Given the description of an element on the screen output the (x, y) to click on. 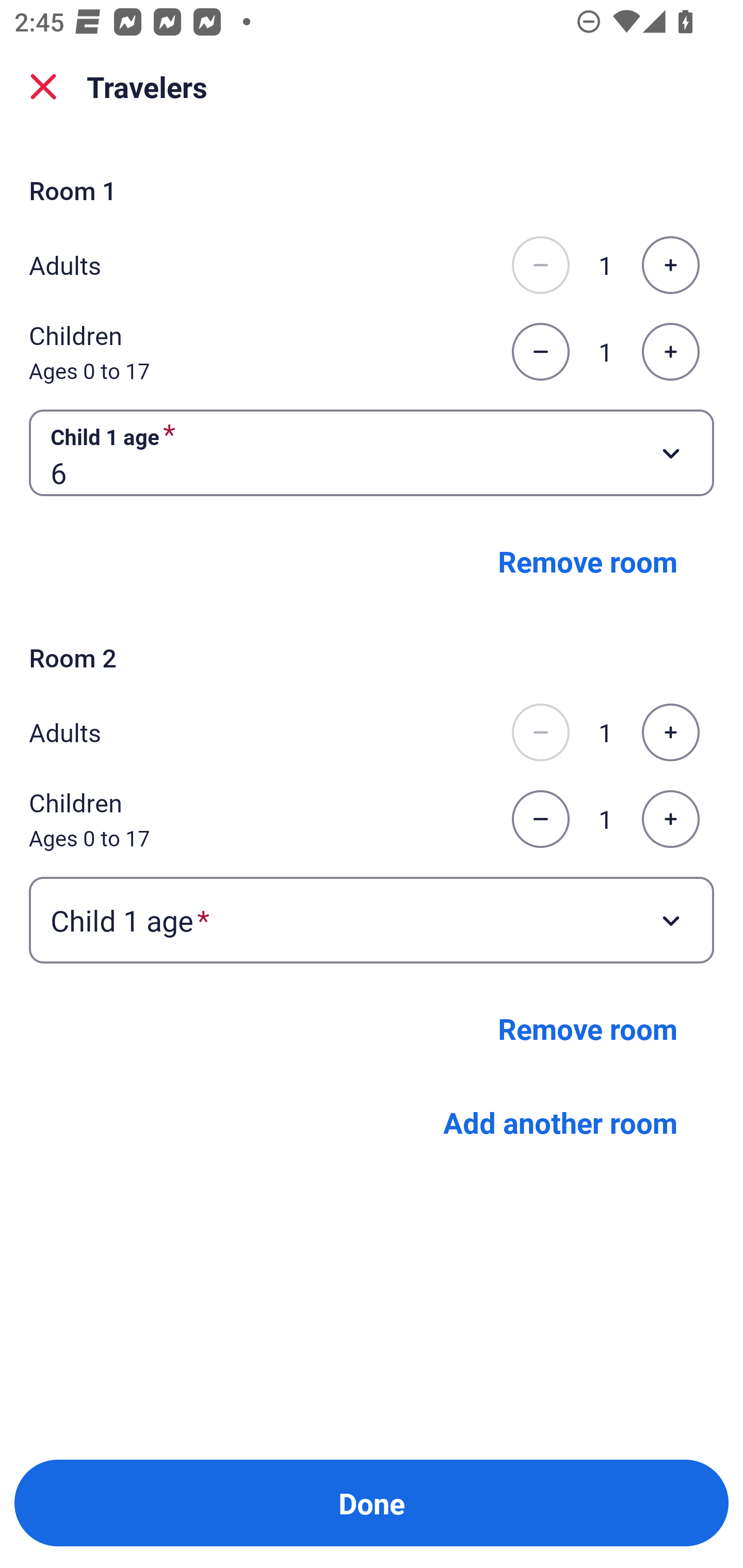
close (43, 86)
Decrease the number of adults (540, 264)
Increase the number of adults (670, 264)
Decrease the number of children (540, 351)
Increase the number of children (670, 351)
Child 1 age required Button 6 (371, 452)
Remove room (588, 561)
Decrease the number of adults (540, 732)
Increase the number of adults (670, 732)
Decrease the number of children (540, 819)
Increase the number of children (670, 819)
Child 1 age required Button (371, 919)
Remove room (588, 1028)
Add another room (560, 1121)
Done (371, 1502)
